Given the description of an element on the screen output the (x, y) to click on. 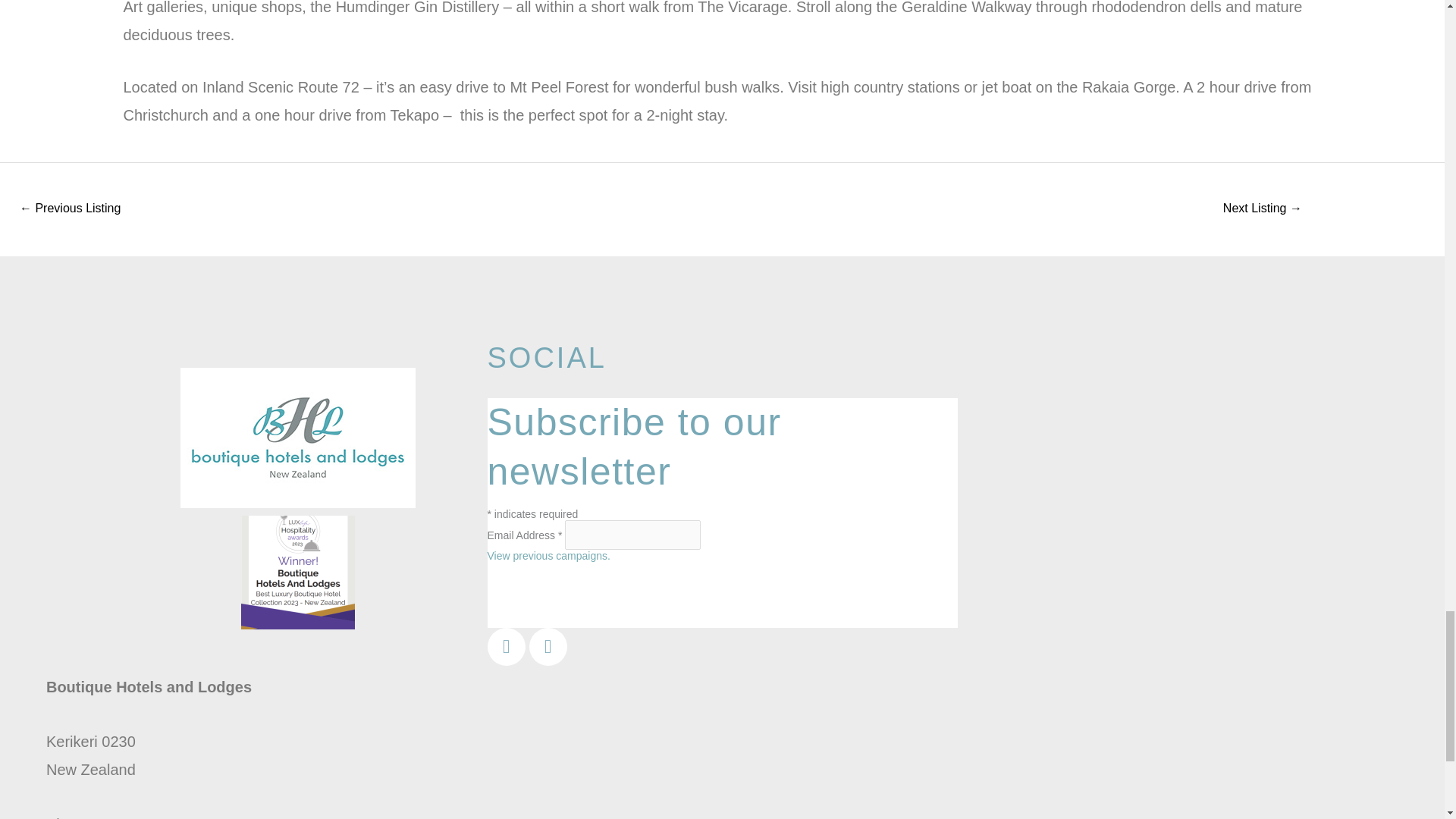
View previous campaigns (548, 555)
Mt Cook Lakeside Retreat (69, 209)
Subscribe (552, 604)
Rimu Lodge - Hokitika (1261, 209)
